Given the description of an element on the screen output the (x, y) to click on. 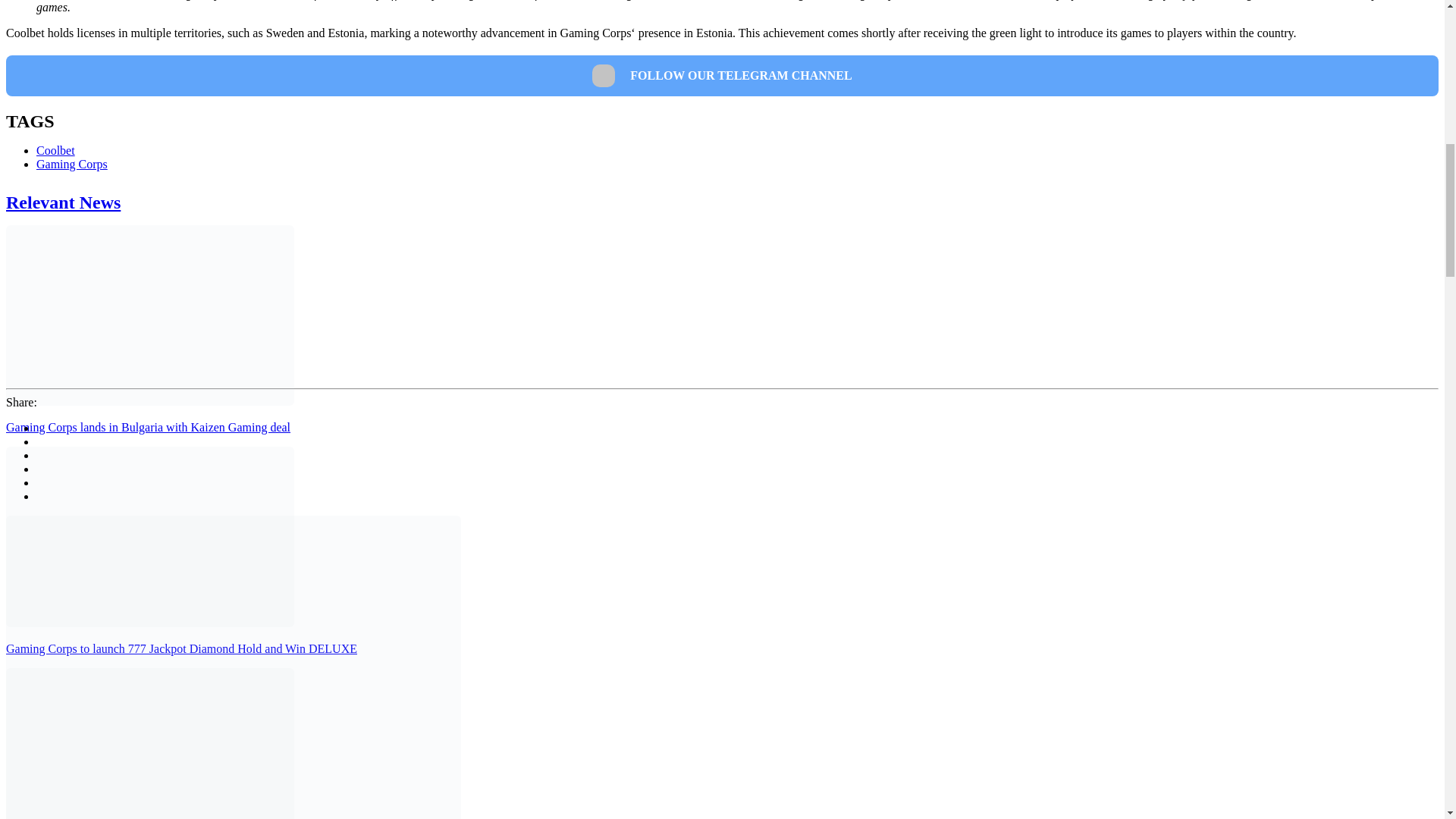
Relevant News (62, 202)
Coolbet (55, 150)
Gaming Corps lands in Bulgaria with Kaizen Gaming deal (147, 427)
Gaming Corps (71, 164)
